Given the description of an element on the screen output the (x, y) to click on. 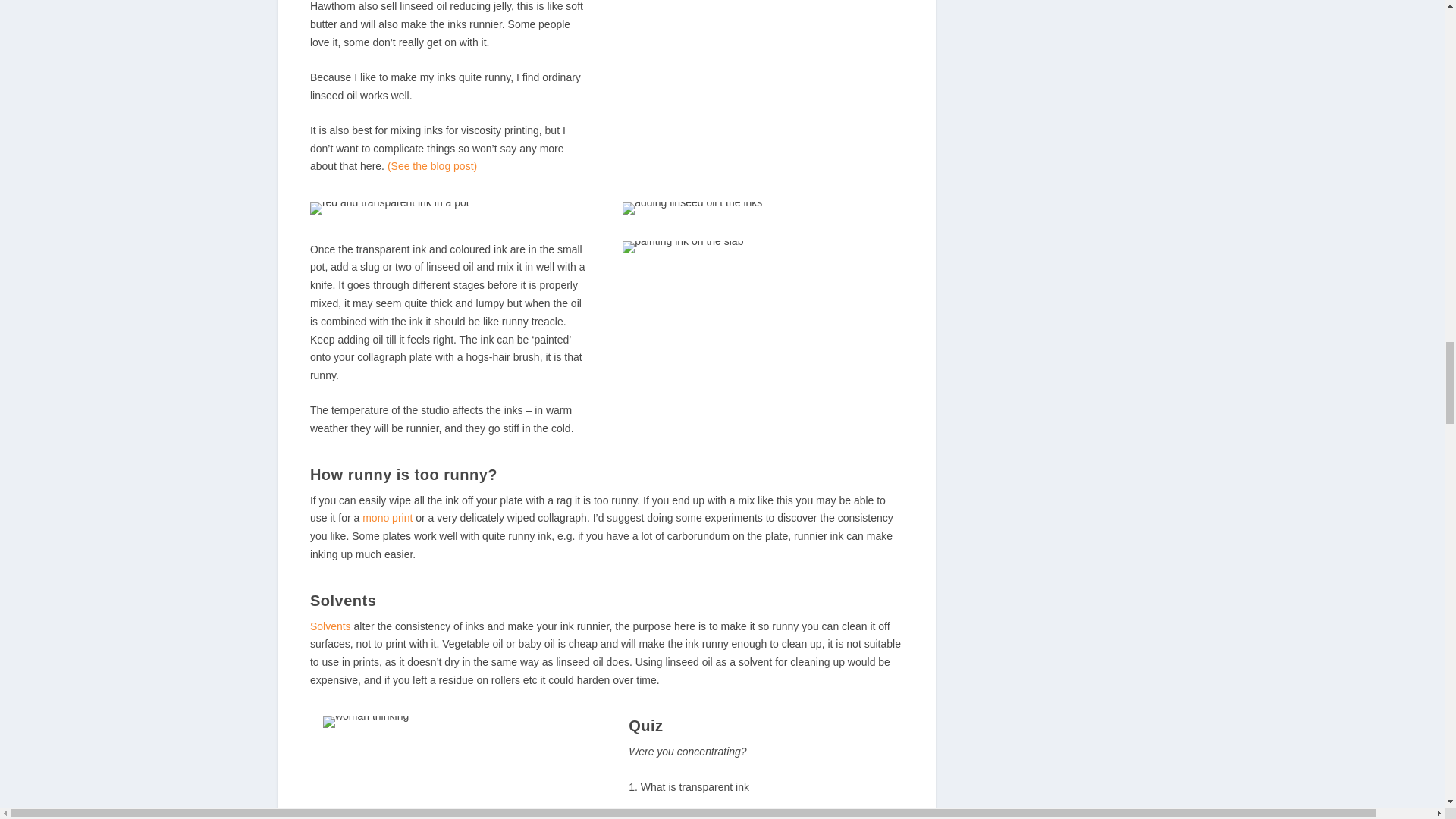
mono print (387, 517)
Solvents (330, 625)
red-and-trans-in-pot (389, 208)
Reflection-round-image (366, 721)
red-painted-on-slab (682, 246)
adding-linseed-oil (692, 208)
